Given the description of an element on the screen output the (x, y) to click on. 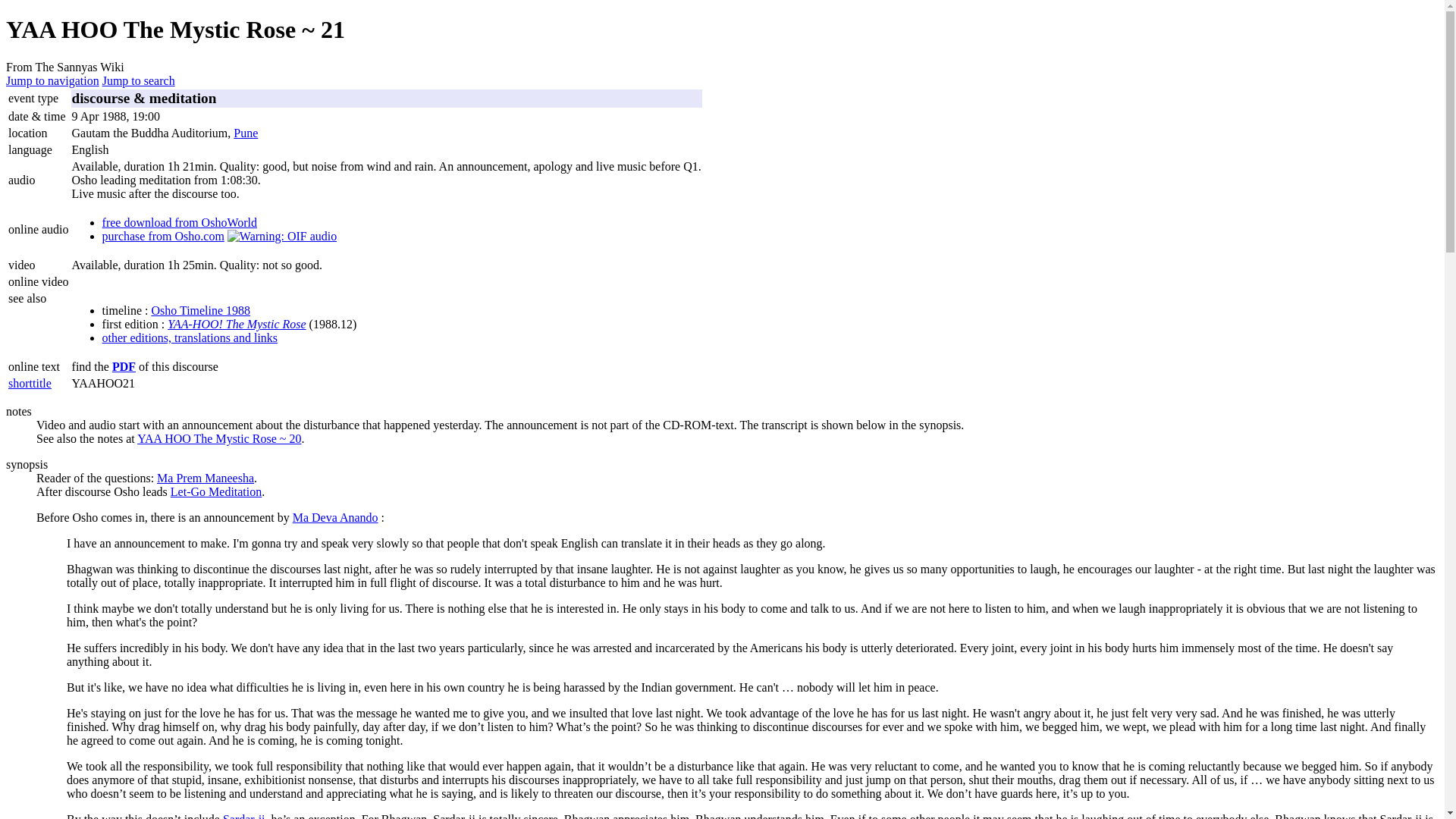
Ma Prem Maneesha (205, 477)
Glossary (29, 382)
Sardar-ji (243, 816)
shorttitle (29, 382)
YAA-HOO! The Mystic Rose (236, 323)
Osho Timeline 1988 (200, 309)
Pune (244, 132)
Jump to navigation (52, 80)
Sw Sardar Gurudayal Singh (243, 816)
wikipedia:Pune (244, 132)
other editions, translations and links (189, 337)
Ma Deva Anando (335, 517)
free download from OshoWorld (179, 222)
Let-Go Meditation (216, 491)
Jump to search (137, 80)
